Given the description of an element on the screen output the (x, y) to click on. 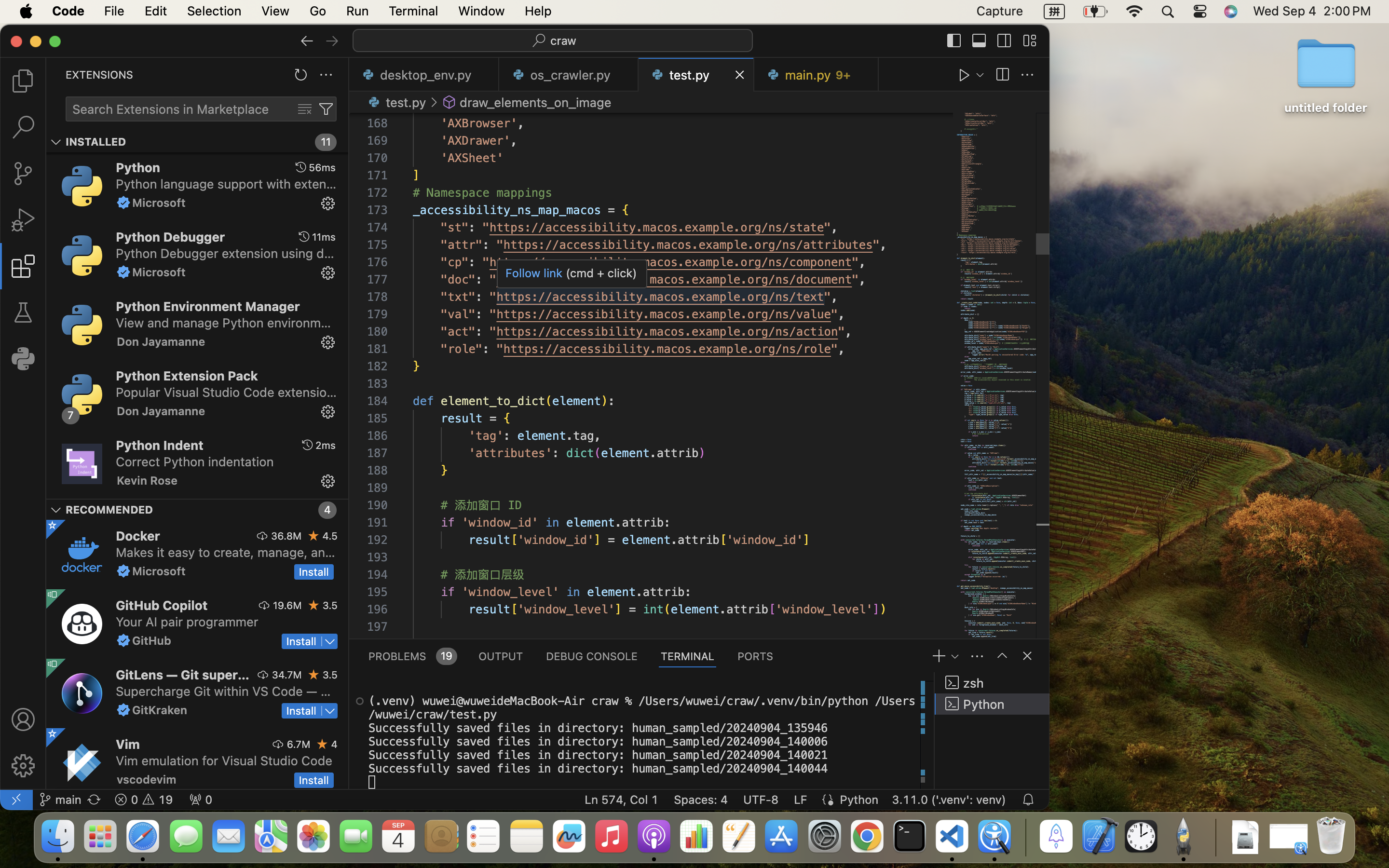
 Element type: AXStaticText (325, 108)
0 PROBLEMS 19 Element type: AXRadioButton (411, 655)
zsh  Element type: AXGroup (991, 682)
56ms Element type: AXStaticText (321, 167)
34.7M Element type: AXStaticText (286, 674)
